Given the description of an element on the screen output the (x, y) to click on. 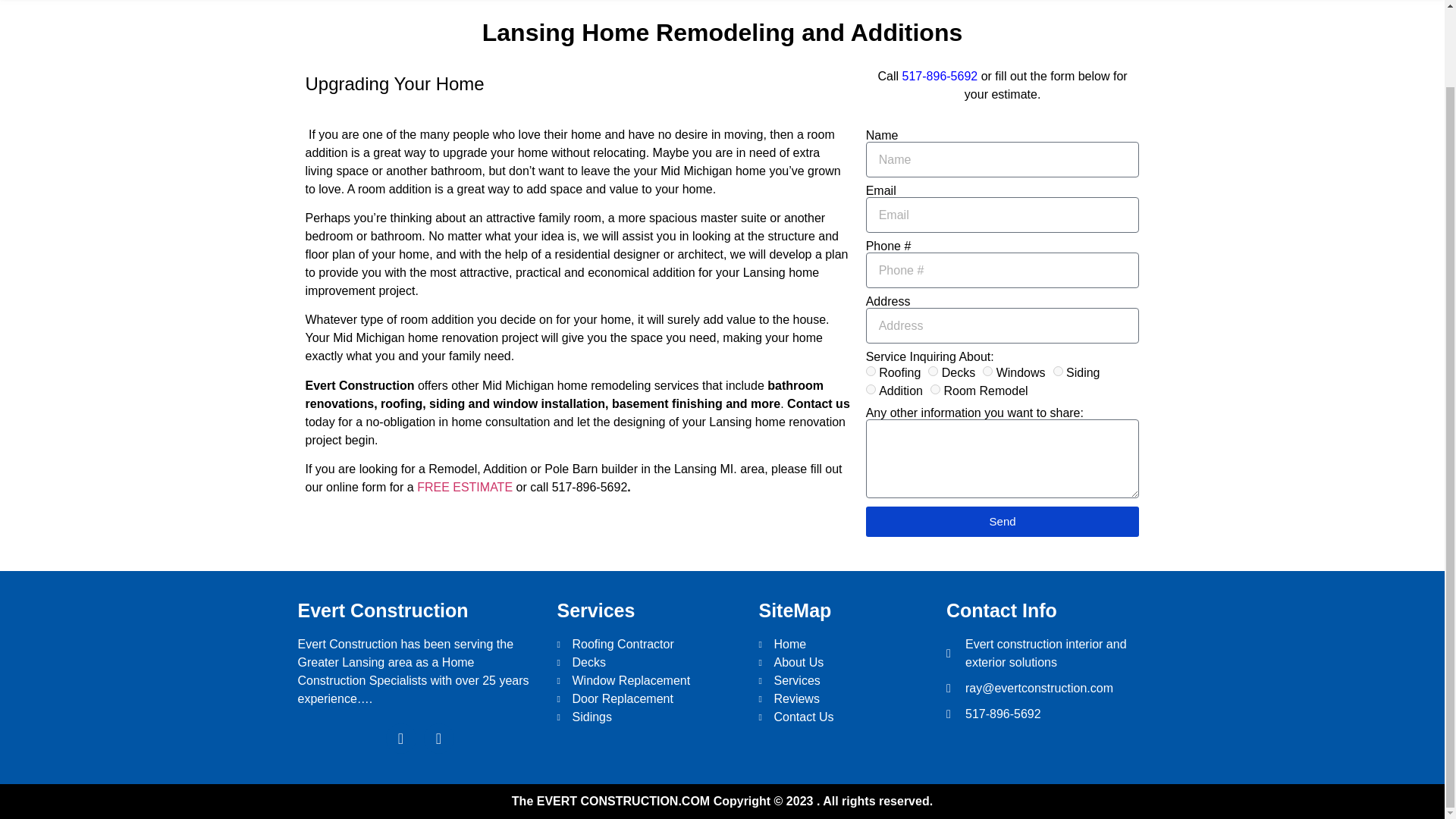
Room Remodel (935, 388)
Window Replacement (649, 680)
Addition (871, 388)
Siding (1057, 370)
About Us (844, 662)
Roofing Contractor (649, 644)
Decks (932, 370)
517-896-5692 (1046, 714)
Contact Us (844, 717)
Sidings (649, 717)
Windows (987, 370)
517-896-5692 (940, 75)
Services (844, 680)
Roofing (871, 370)
Send (1003, 521)
